Given the description of an element on the screen output the (x, y) to click on. 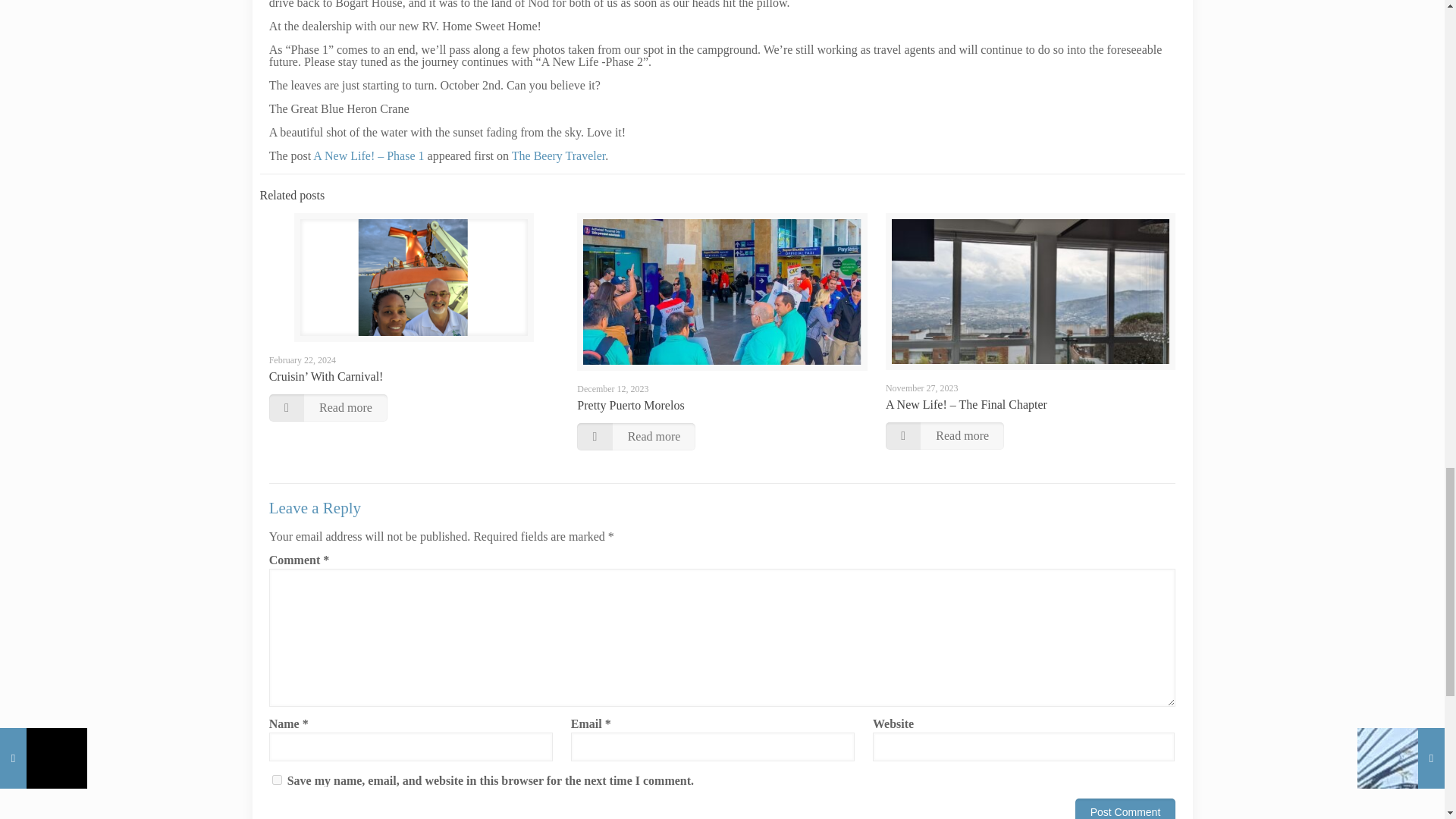
Post Comment (1125, 808)
Pretty Puerto Morelos (630, 404)
Read more (635, 436)
Read more (328, 407)
yes (277, 779)
The Beery Traveler (558, 155)
